Given the description of an element on the screen output the (x, y) to click on. 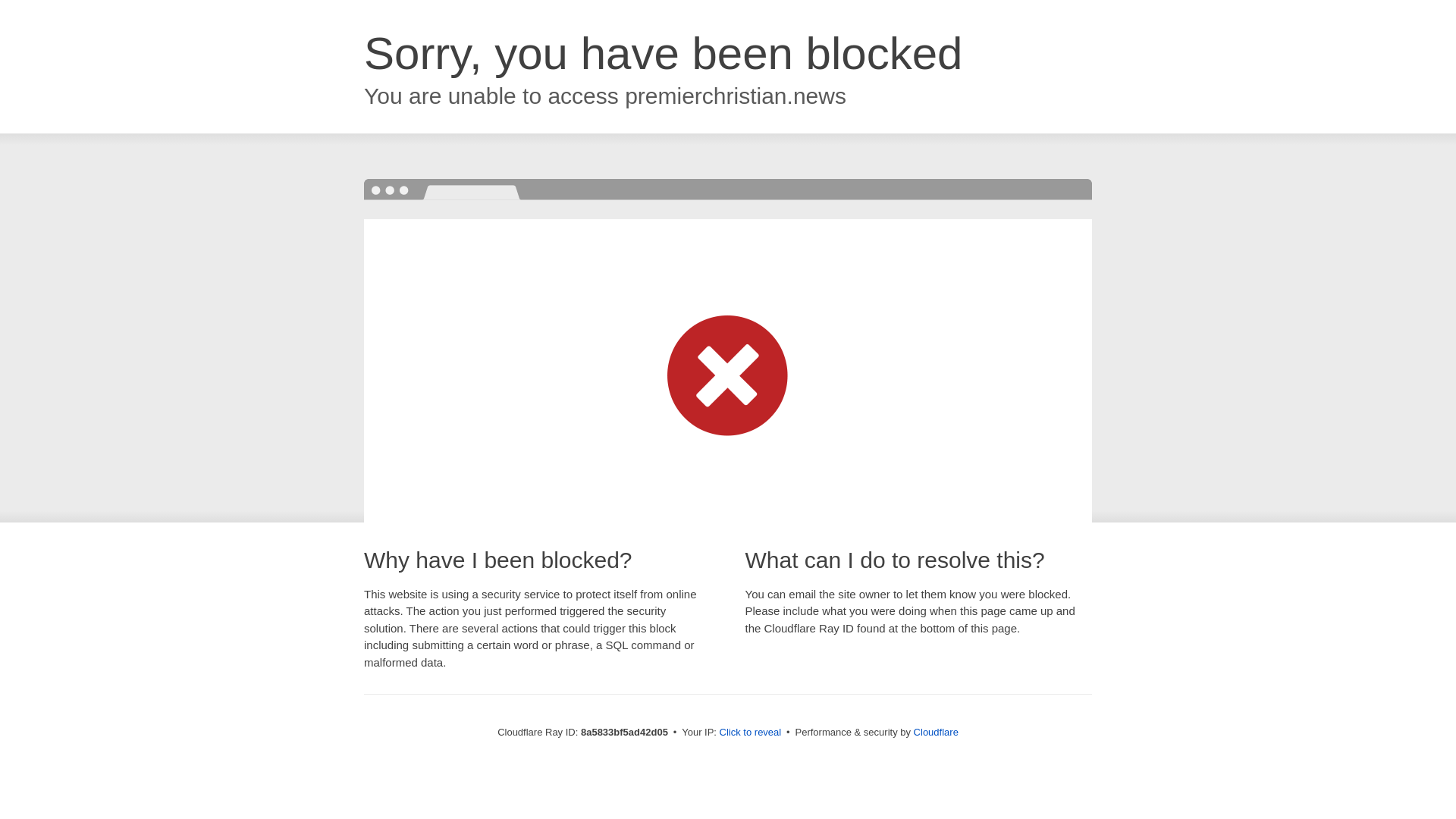
Click to reveal (750, 732)
Cloudflare (936, 731)
